Given the description of an element on the screen output the (x, y) to click on. 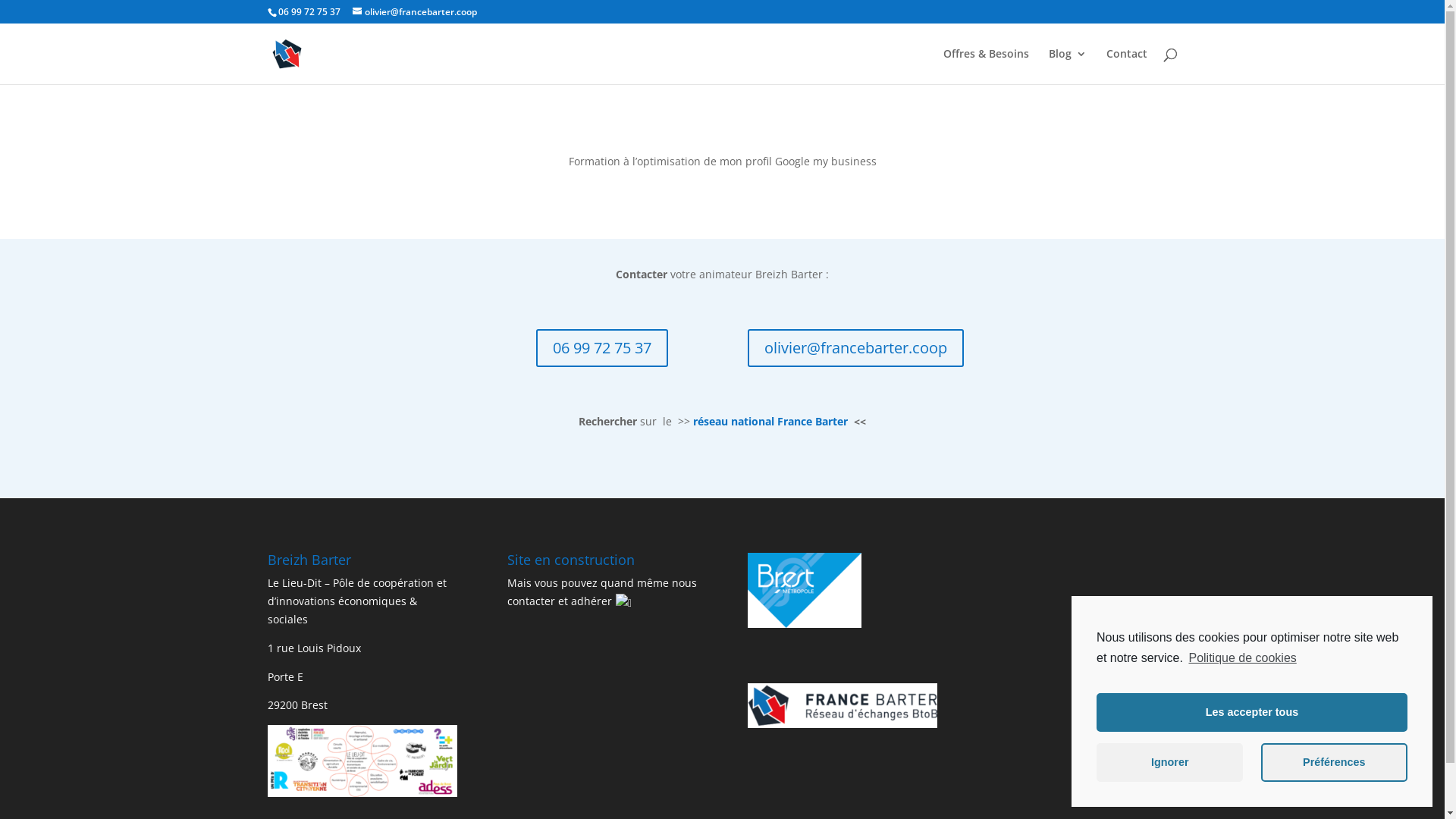
Les accepter tous Element type: text (1251, 712)
06 99 72 75 37 Element type: text (602, 348)
Blog Element type: text (1066, 66)
Politique de cookies Element type: text (1241, 657)
Ignorer Element type: text (1169, 762)
Contact Element type: text (1125, 66)
Offres & Besoins Element type: text (986, 66)
olivier@francebarter.coop Element type: text (855, 348)
olivier@francebarter.coop Element type: text (413, 11)
